Given the description of an element on the screen output the (x, y) to click on. 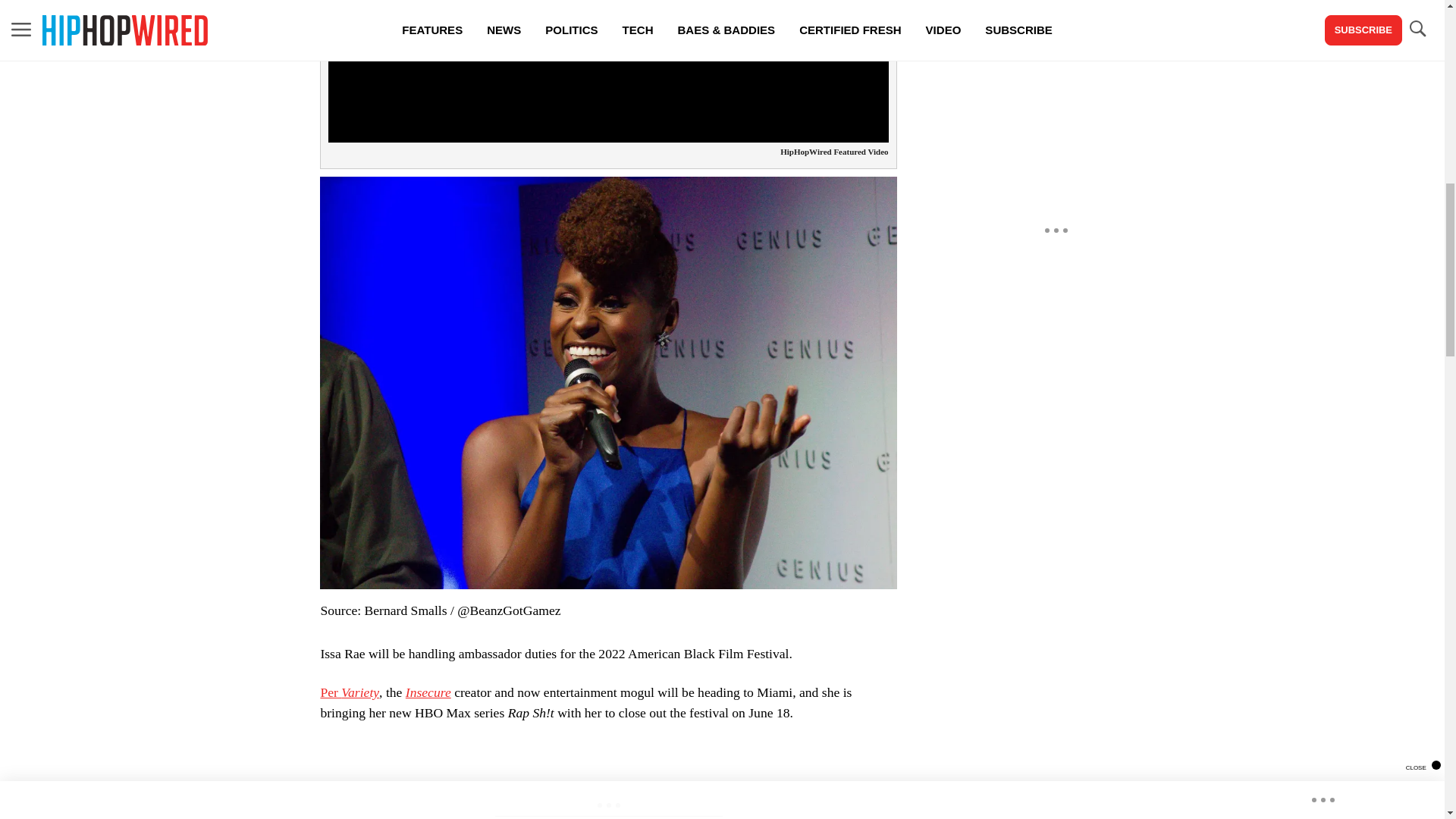
Insecure (428, 692)
Per Variety (349, 692)
